Given the description of an element on the screen output the (x, y) to click on. 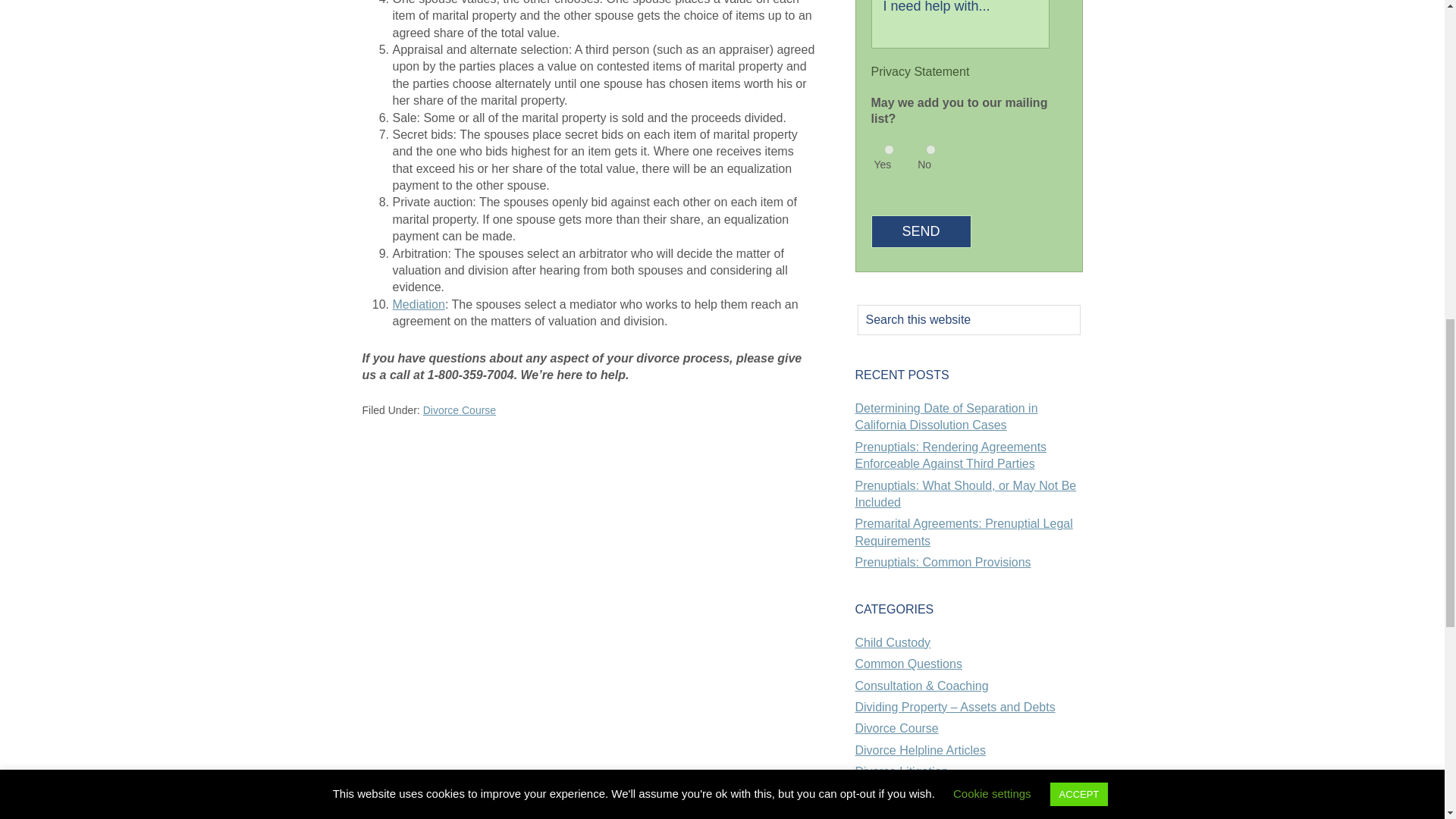
Divorce Mediation (419, 304)
Yes (888, 149)
SEND (920, 231)
No (929, 149)
